Given the description of an element on the screen output the (x, y) to click on. 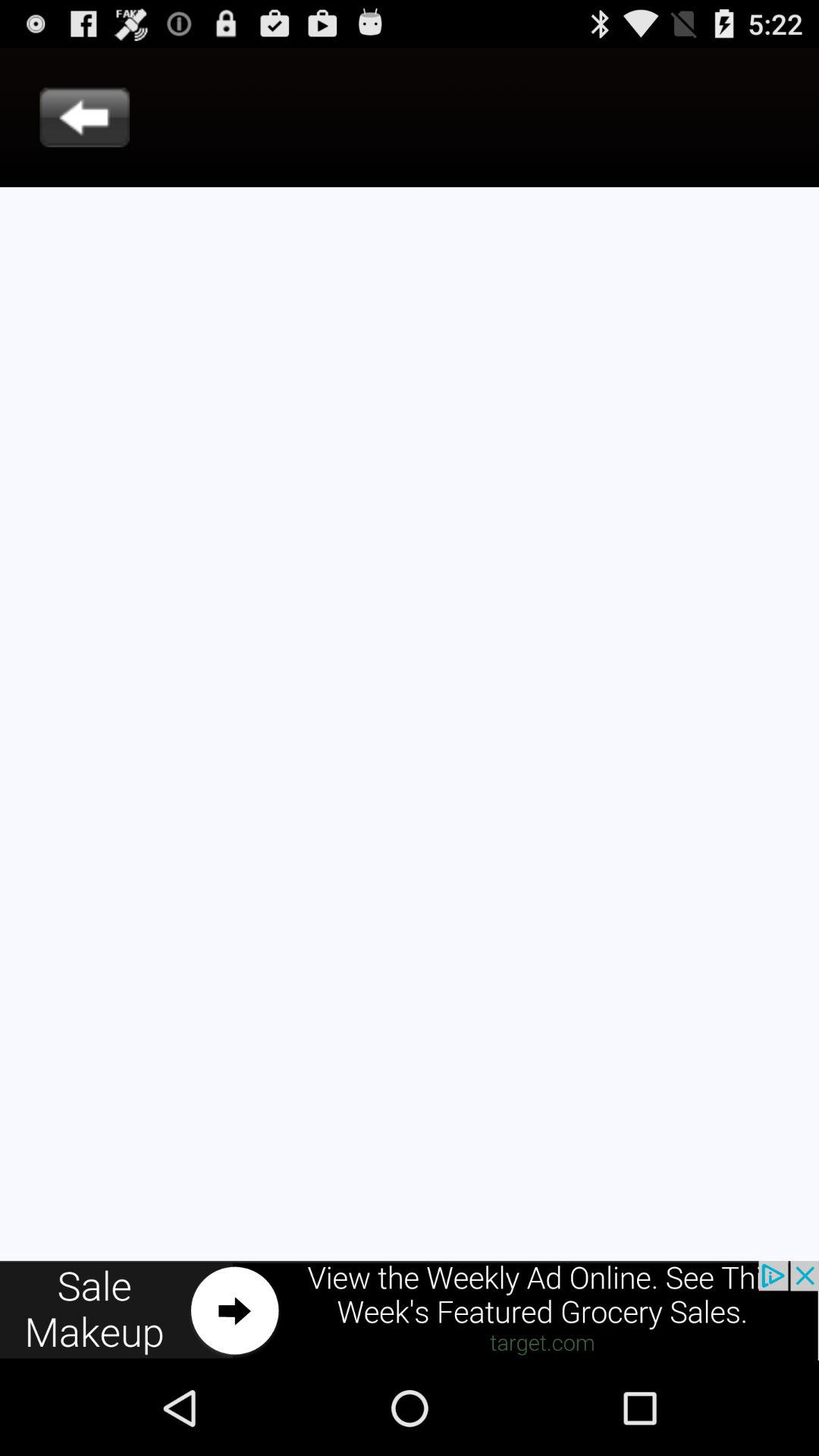
open advertisement (409, 1310)
